Given the description of an element on the screen output the (x, y) to click on. 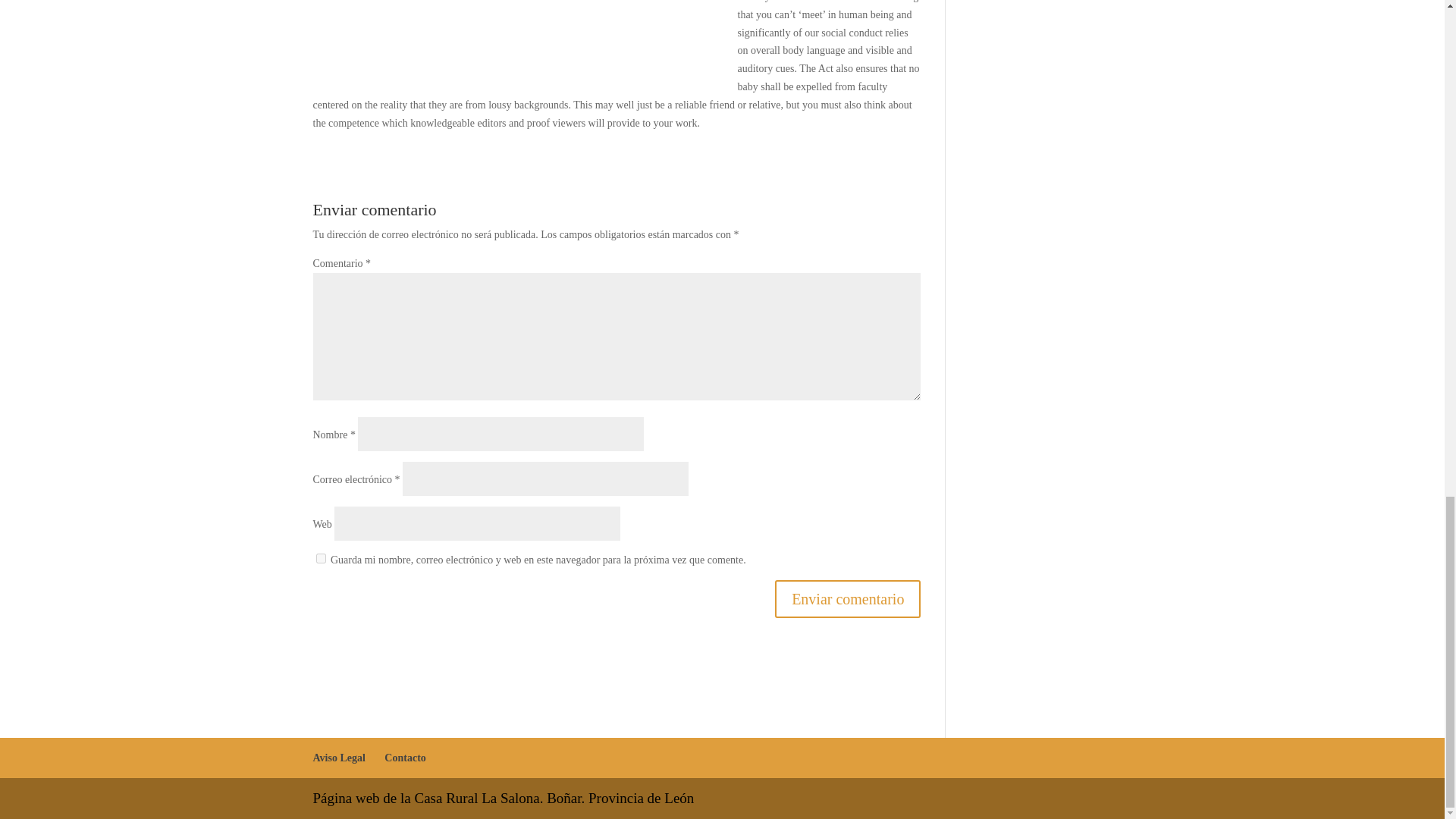
Aviso Legal (339, 757)
Enviar comentario (847, 598)
Contacto (404, 757)
Enviar comentario (847, 598)
yes (319, 558)
